Given the description of an element on the screen output the (x, y) to click on. 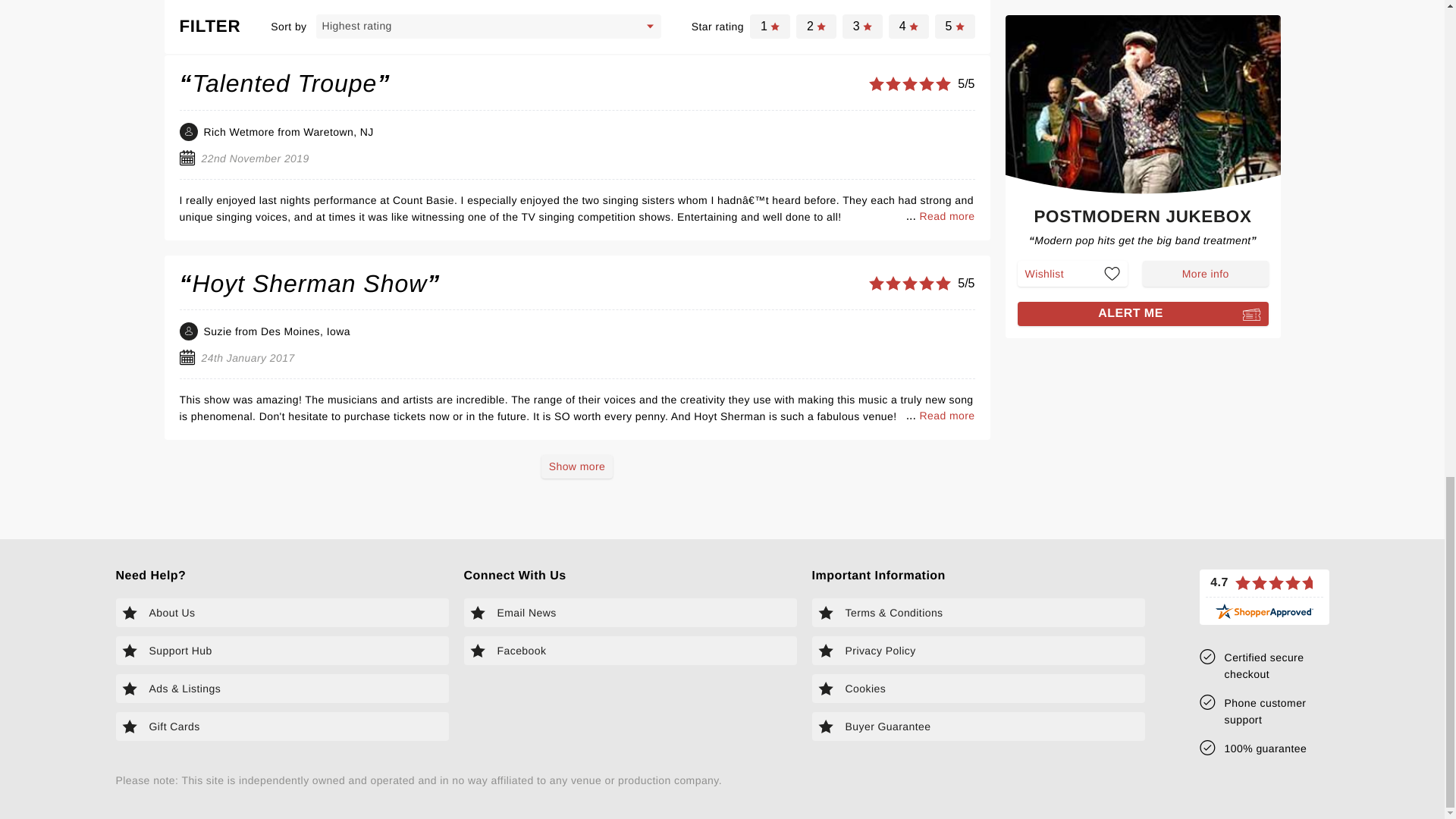
About Us (281, 612)
Read more (946, 15)
Read more (946, 216)
Show more (576, 466)
Read more (946, 415)
